Given the description of an element on the screen output the (x, y) to click on. 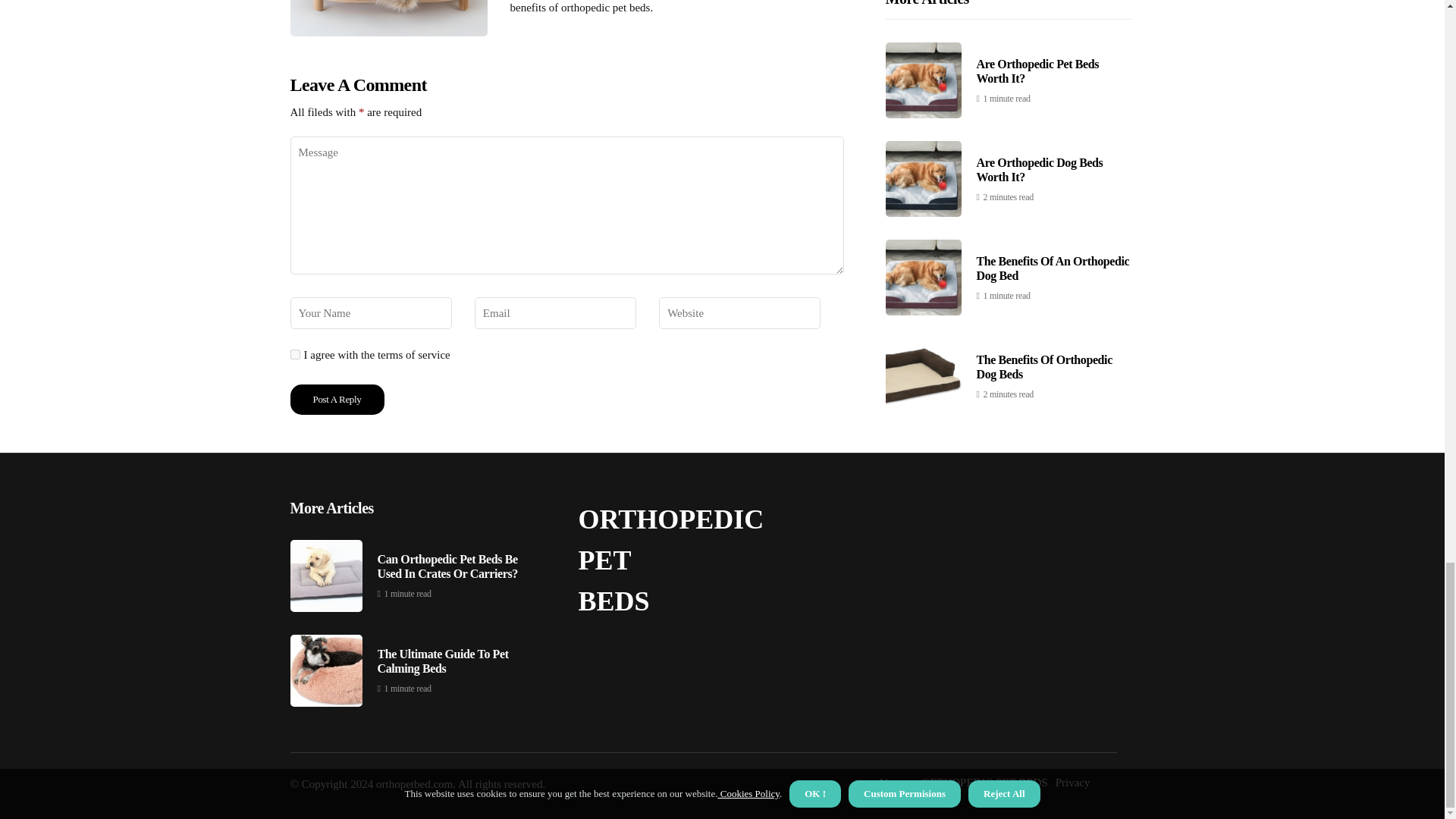
Post a Reply (336, 399)
yes (294, 354)
Post a Reply (336, 399)
